Given the description of an element on the screen output the (x, y) to click on. 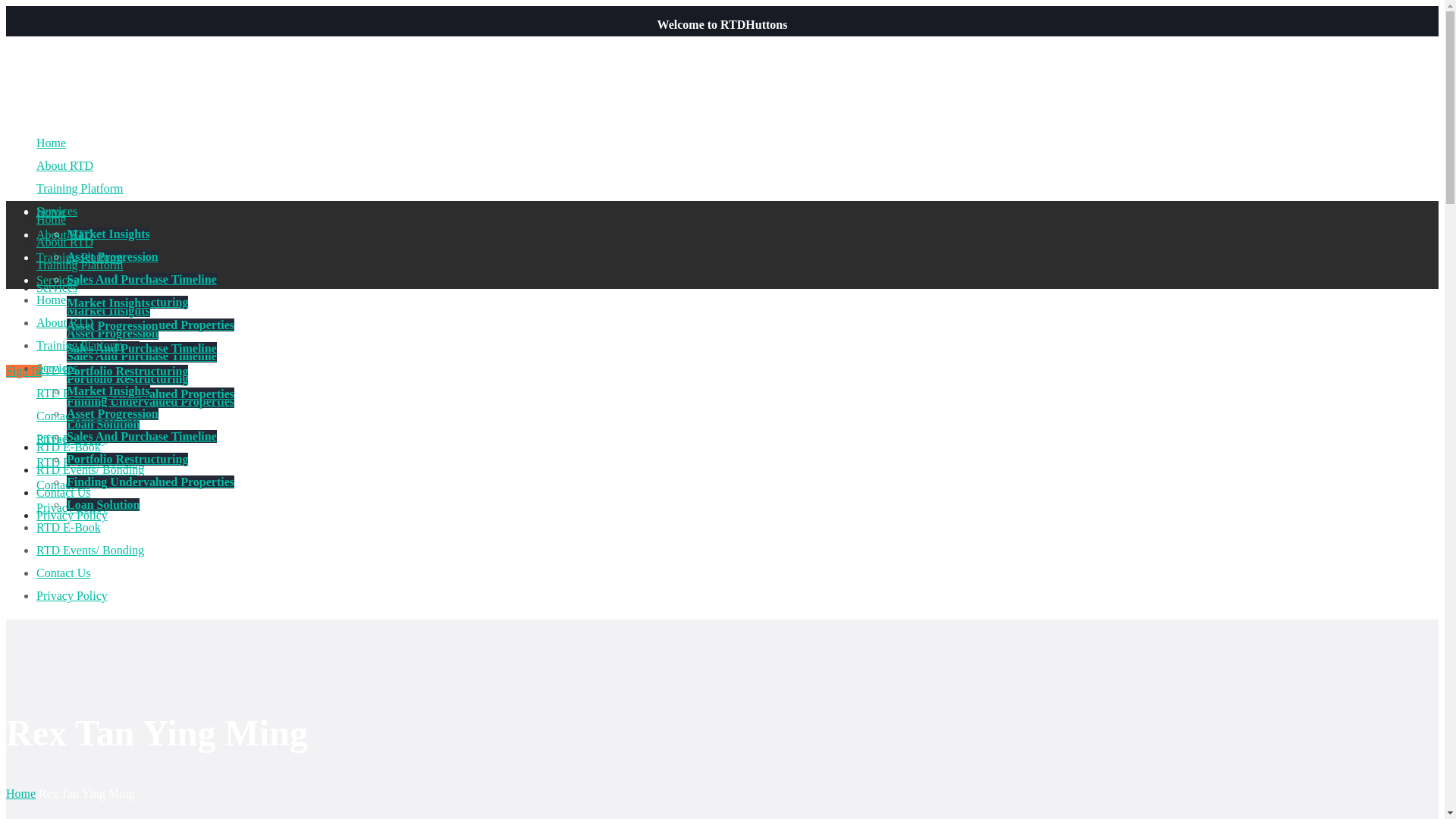
Finding Undervalued Properties (150, 400)
Services (56, 287)
RTD E-Book (68, 369)
Home (50, 211)
Market Insights (107, 309)
Services (56, 210)
Finding Undervalued Properties (150, 393)
Contact Us (63, 492)
Home (50, 142)
Portfolio Restructuring (126, 370)
Privacy Policy (71, 438)
Training Platform (79, 264)
Home (50, 219)
Sales And Purchase Timeline (141, 278)
Portfolio Restructuring (126, 378)
